Given the description of an element on the screen output the (x, y) to click on. 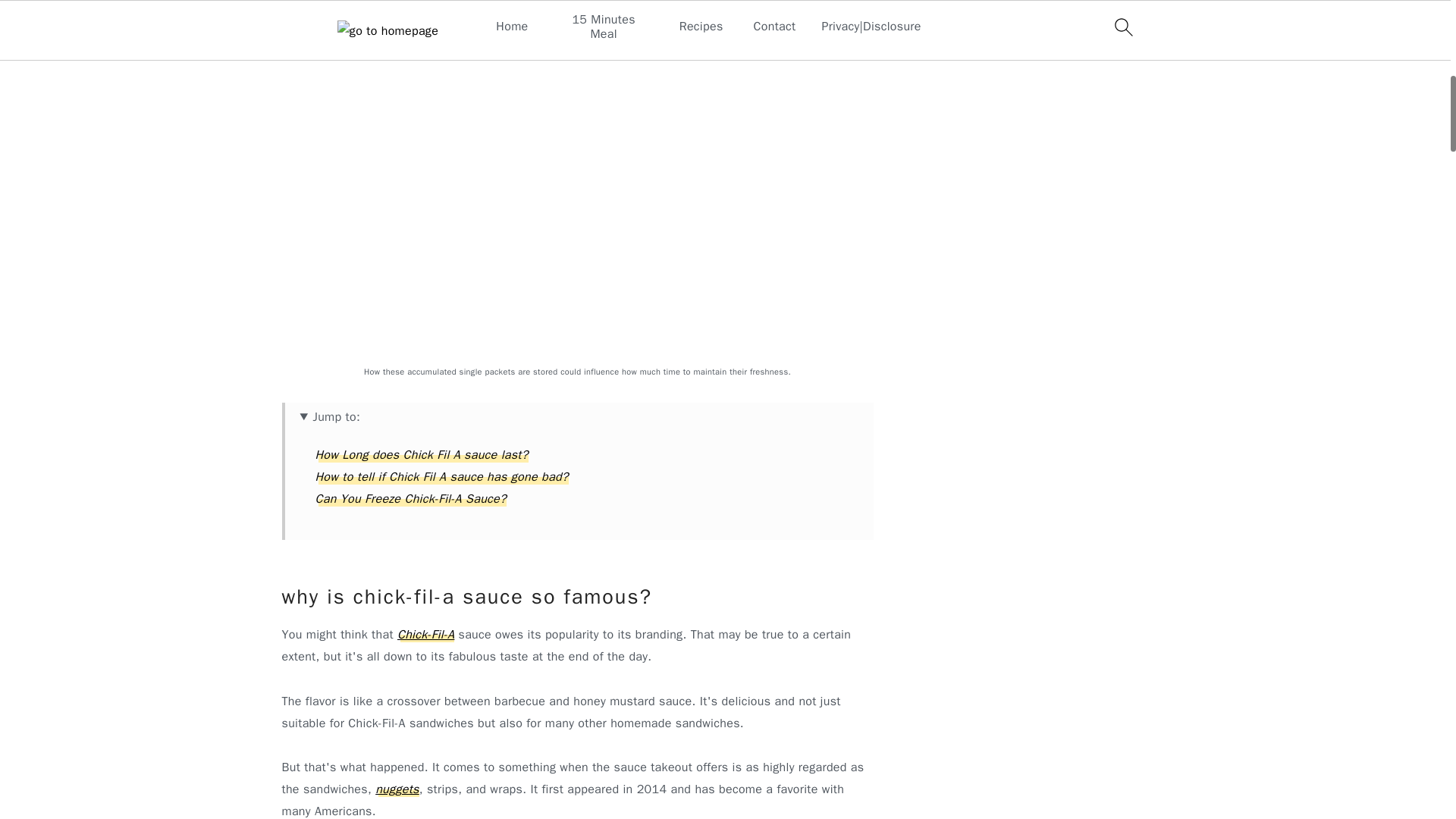
nuggets (397, 789)
How to tell if Chick Fil A sauce has gone bad? (442, 476)
How Long does Chick Fil A sauce last? (421, 454)
Can You Freeze Chick-Fil-A Sauce? (410, 498)
Chick-Fil-A (425, 634)
